Given the description of an element on the screen output the (x, y) to click on. 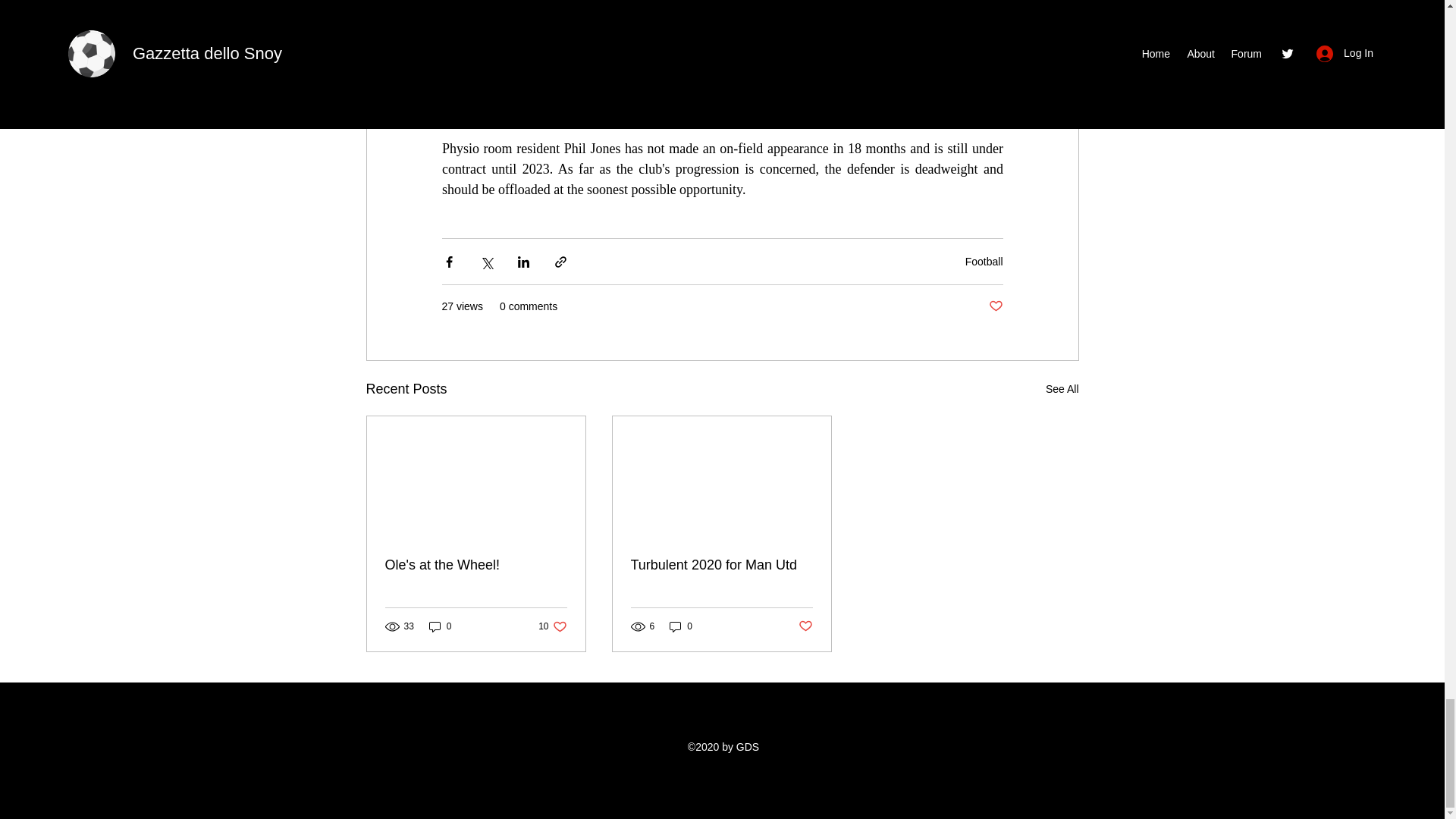
Football (984, 261)
0 (681, 626)
See All (1061, 389)
Post not marked as liked (804, 625)
Turbulent 2020 for Man Utd (721, 565)
0 (440, 626)
Post not marked as liked (995, 306)
Ole's at the Wheel! (552, 626)
